Given the description of an element on the screen output the (x, y) to click on. 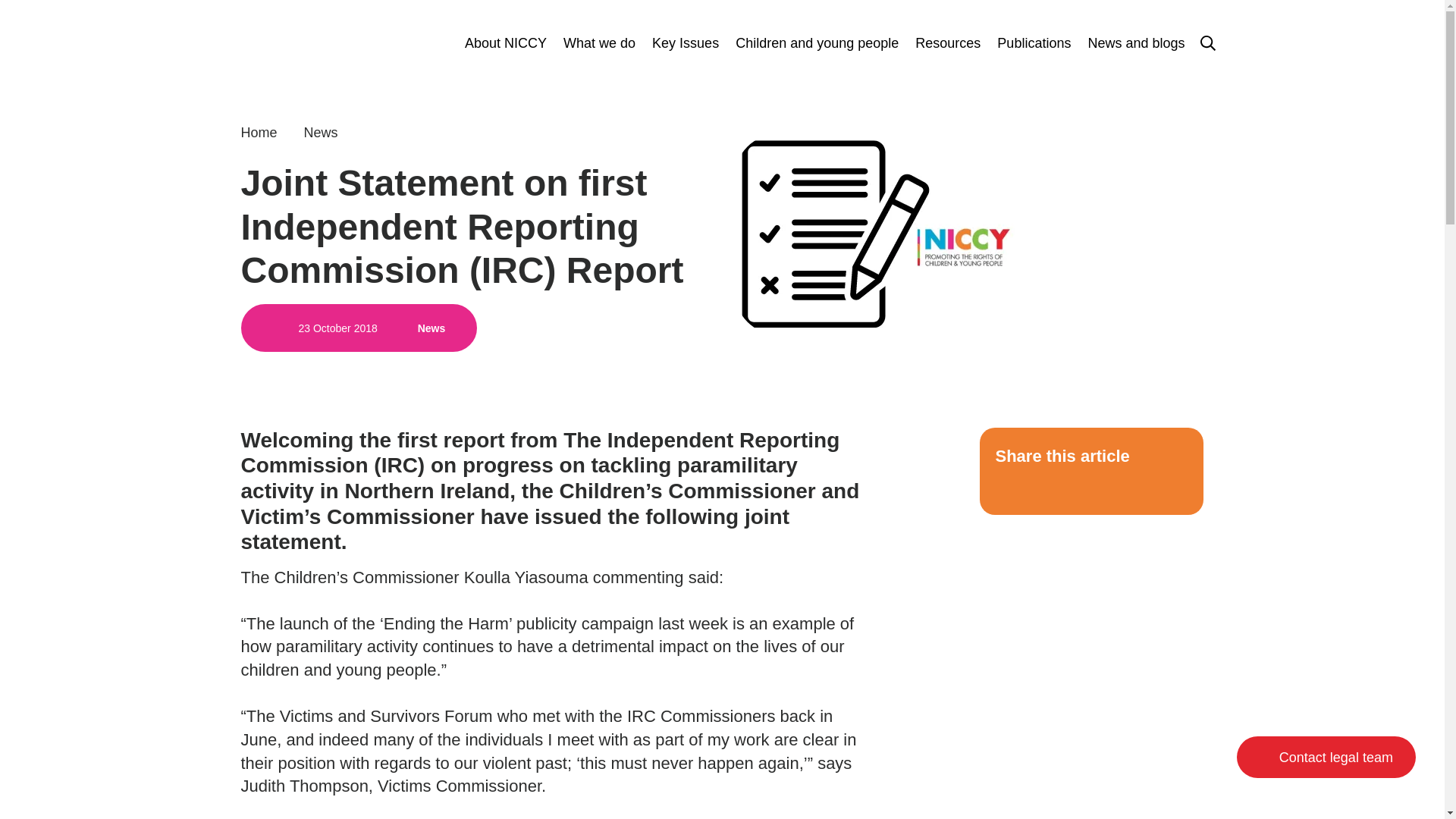
NICCY (296, 42)
What we do (598, 43)
Open search (1206, 42)
About NICCY (505, 43)
NICCY - Homepage (296, 42)
